Given the description of an element on the screen output the (x, y) to click on. 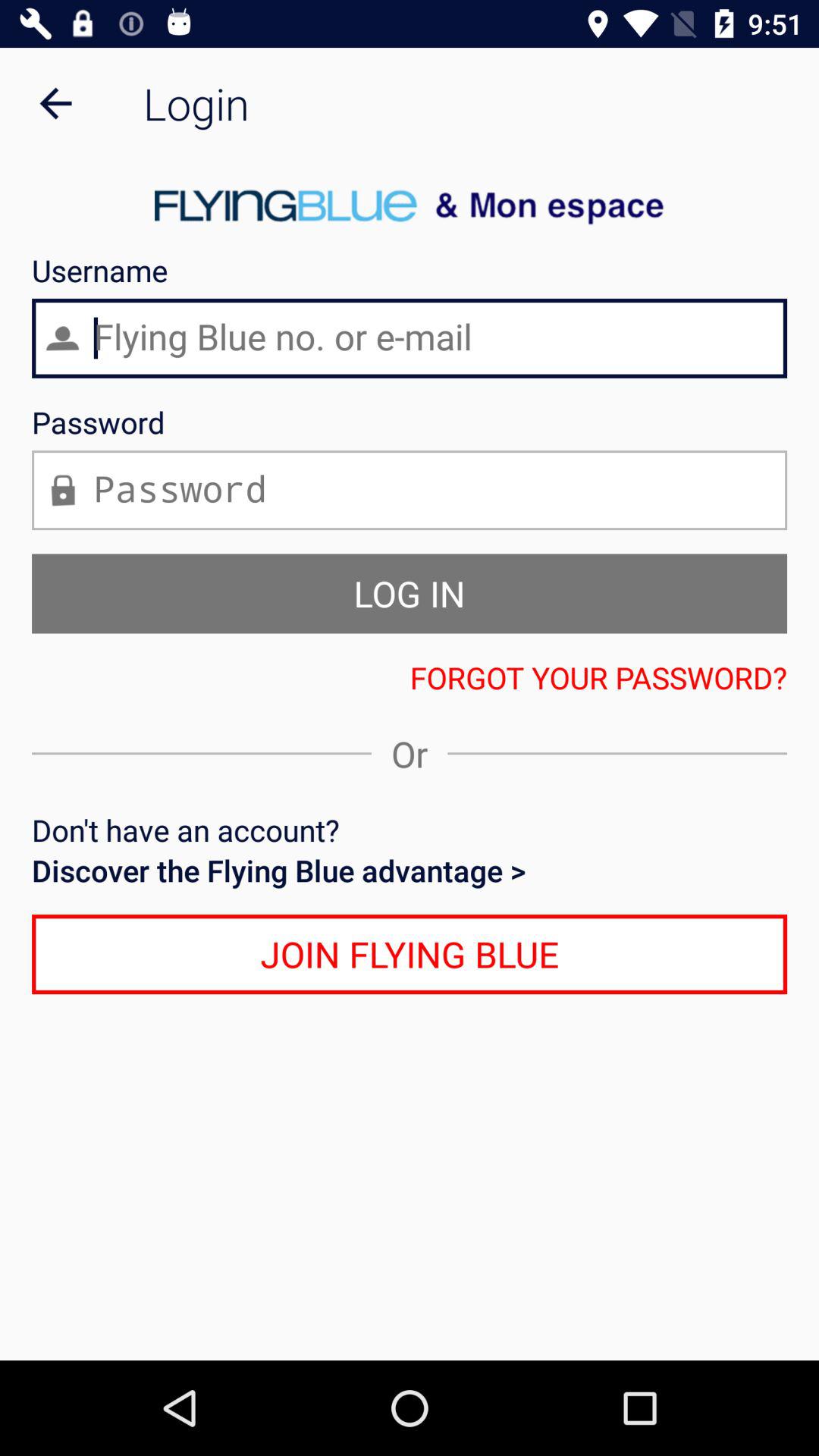
tap the icon next to login (55, 103)
